Given the description of an element on the screen output the (x, y) to click on. 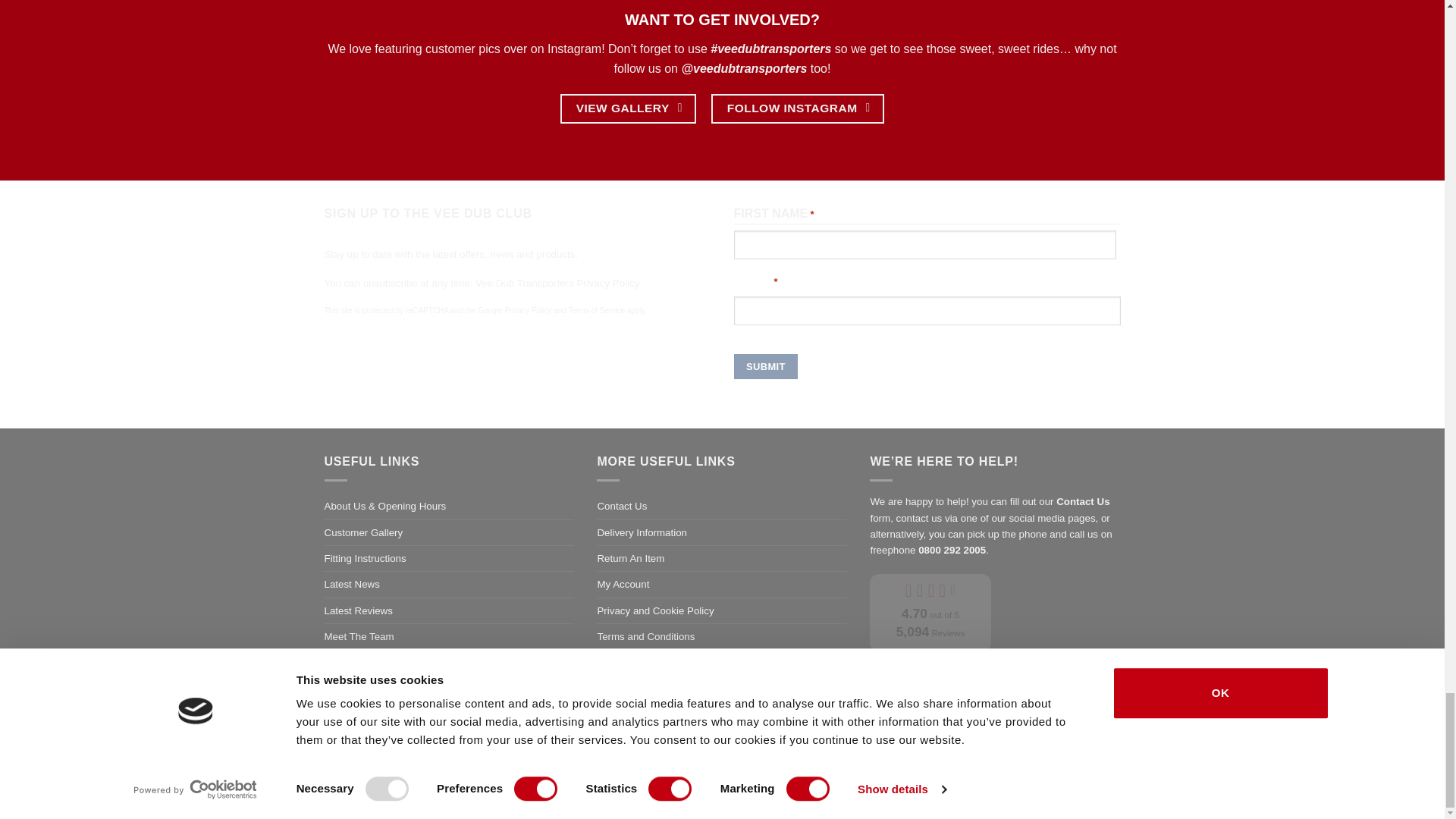
Reviews Badge Modern Widget (930, 626)
Submit (765, 366)
